Given the description of an element on the screen output the (x, y) to click on. 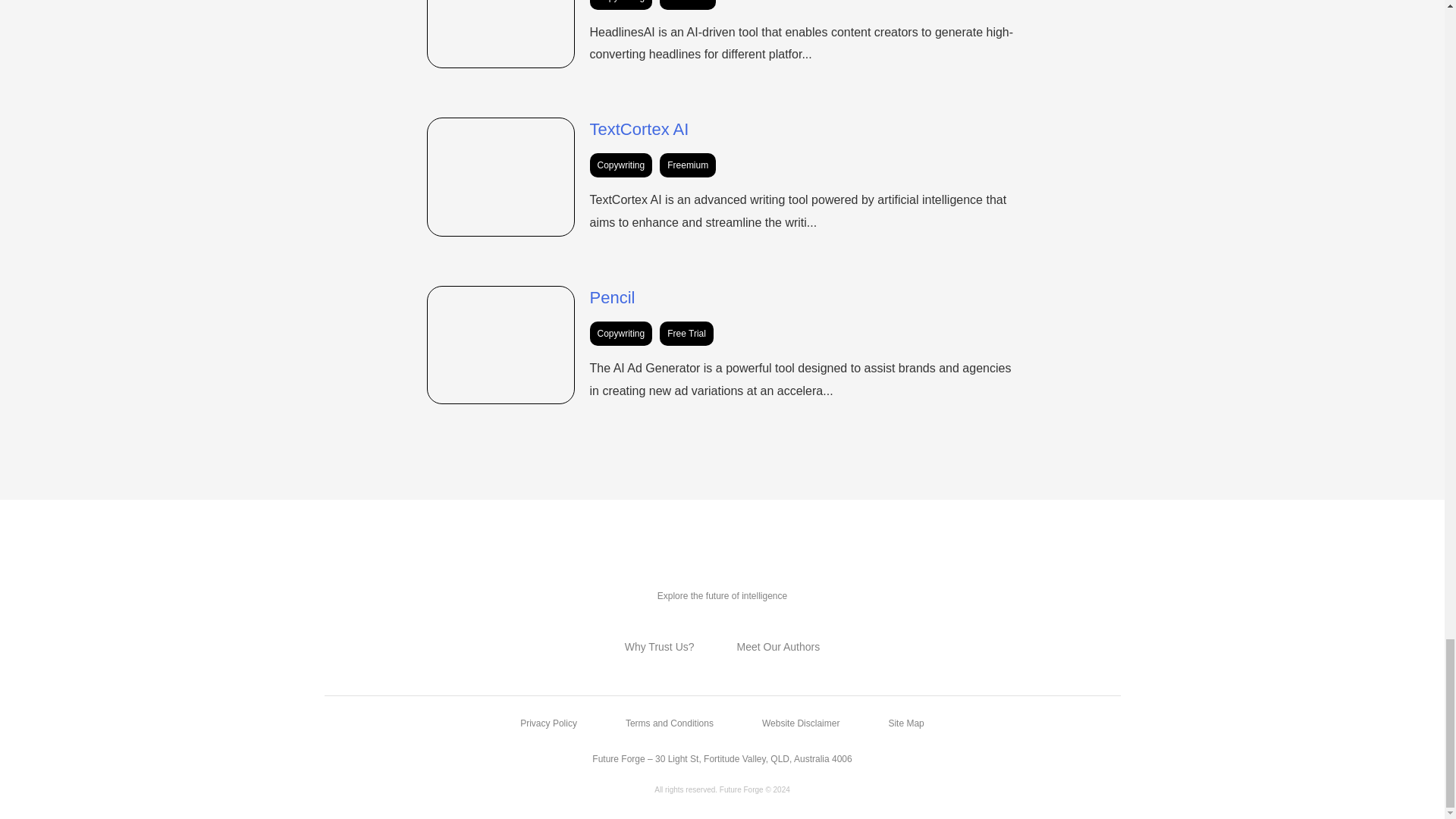
Site Map (905, 723)
Pencil (611, 297)
Meet Our Authors (778, 646)
Website Disclaimer (800, 723)
Terms and Conditions (669, 723)
TextCortex AI (638, 128)
Why Trust Us? (659, 646)
Privacy Policy (547, 723)
